Given the description of an element on the screen output the (x, y) to click on. 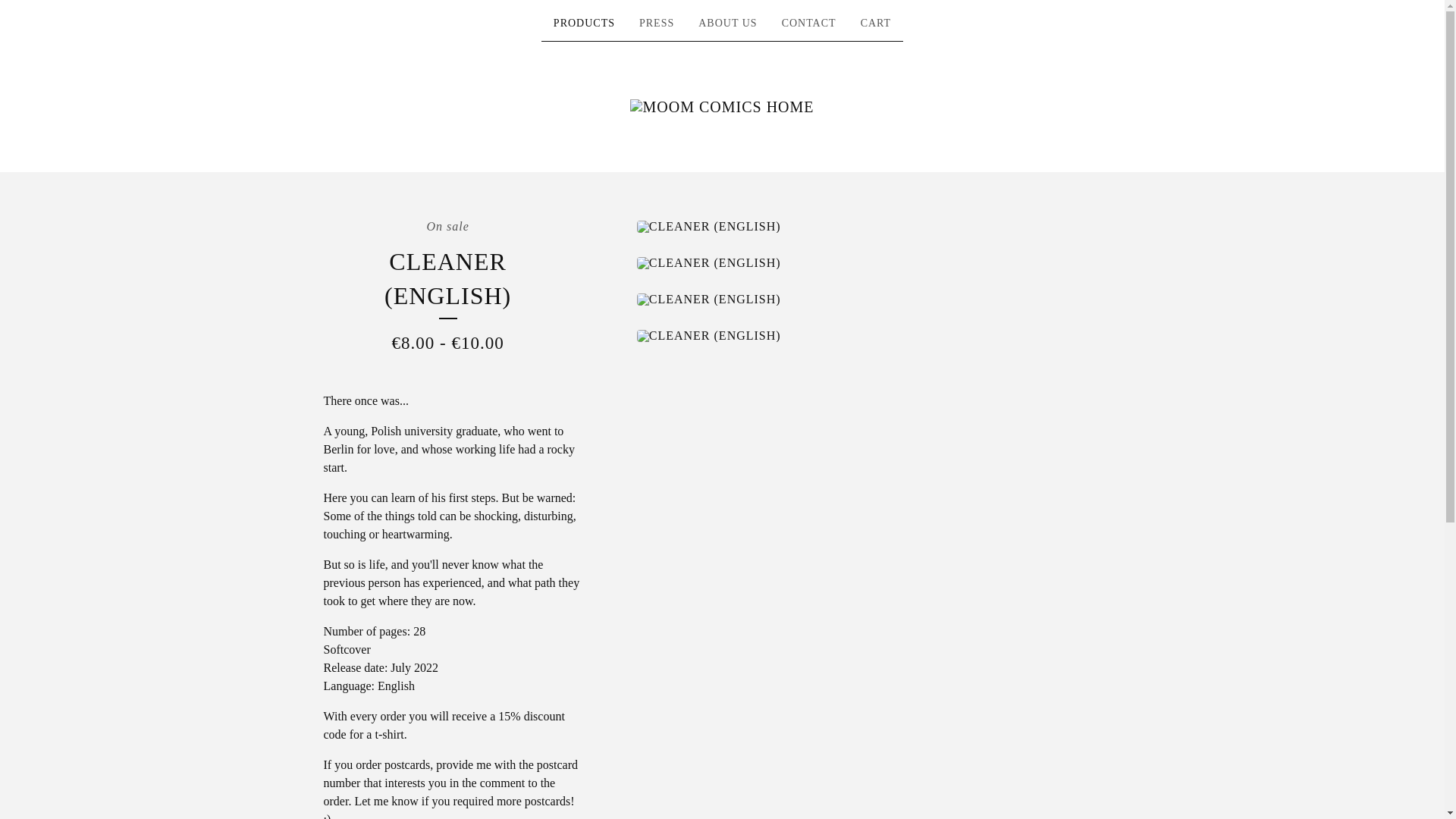
PRESS (656, 23)
PRODUCTS (584, 23)
ABOUT US (727, 23)
View Press (656, 23)
CONTACT (809, 23)
View About us (727, 23)
Home (721, 106)
CART (876, 23)
